Given the description of an element on the screen output the (x, y) to click on. 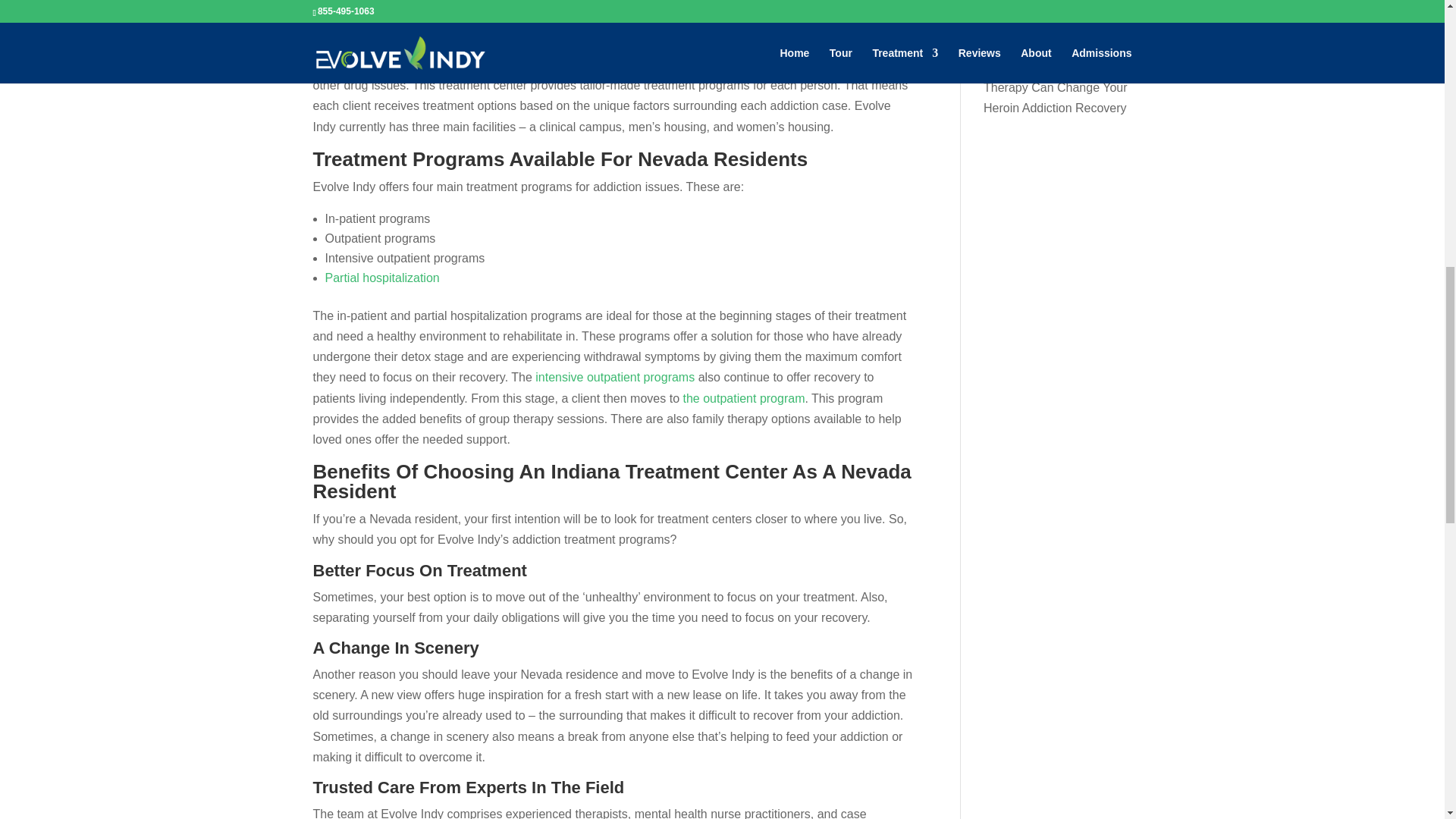
Partial hospitalization (381, 277)
treatment options (718, 43)
the outpatient program (743, 398)
intensive outpatient programs (614, 377)
